Given the description of an element on the screen output the (x, y) to click on. 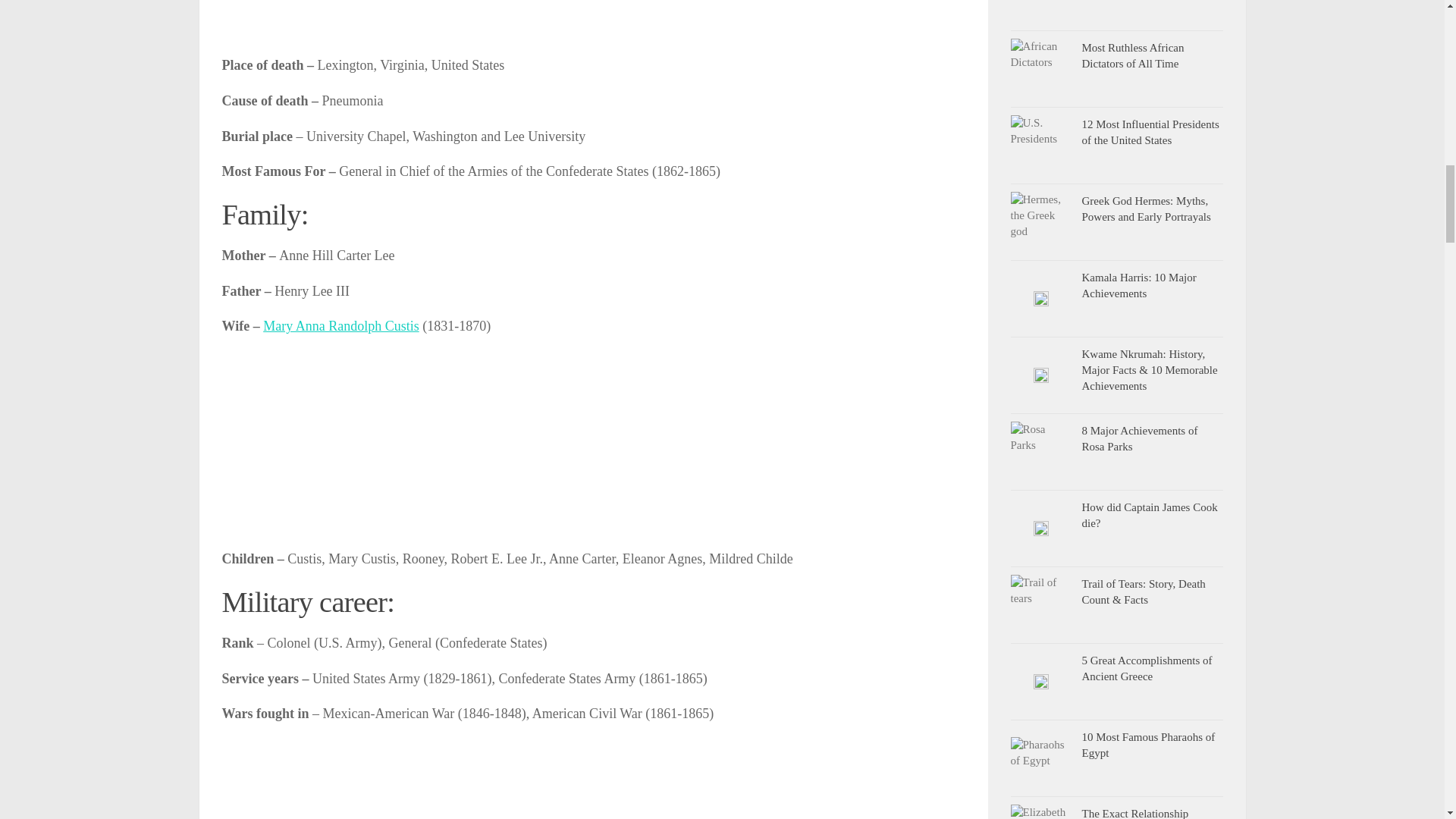
Mary Anna Randolph Custis (341, 325)
